Given the description of an element on the screen output the (x, y) to click on. 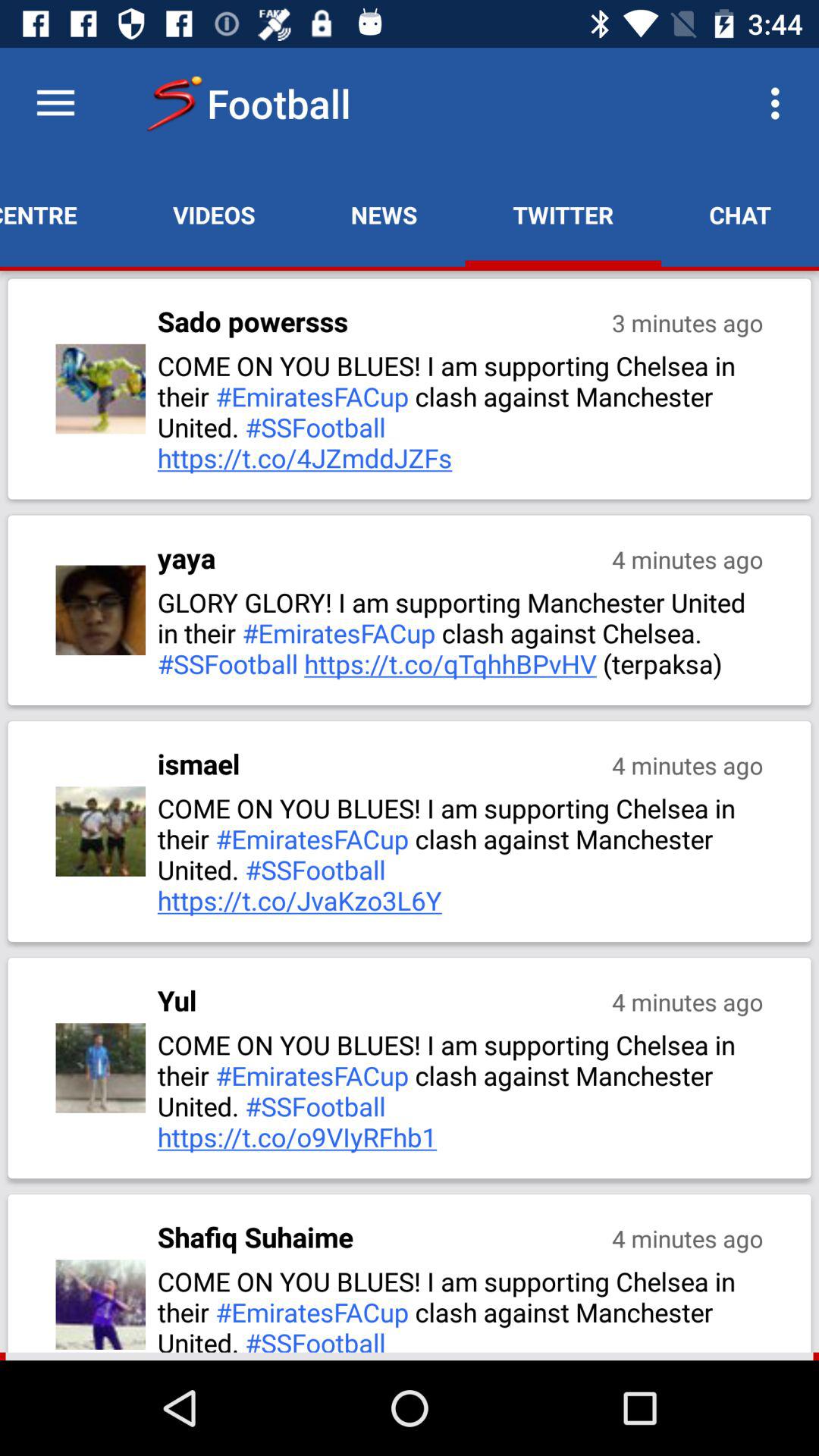
click glory glory i icon (462, 632)
